Given the description of an element on the screen output the (x, y) to click on. 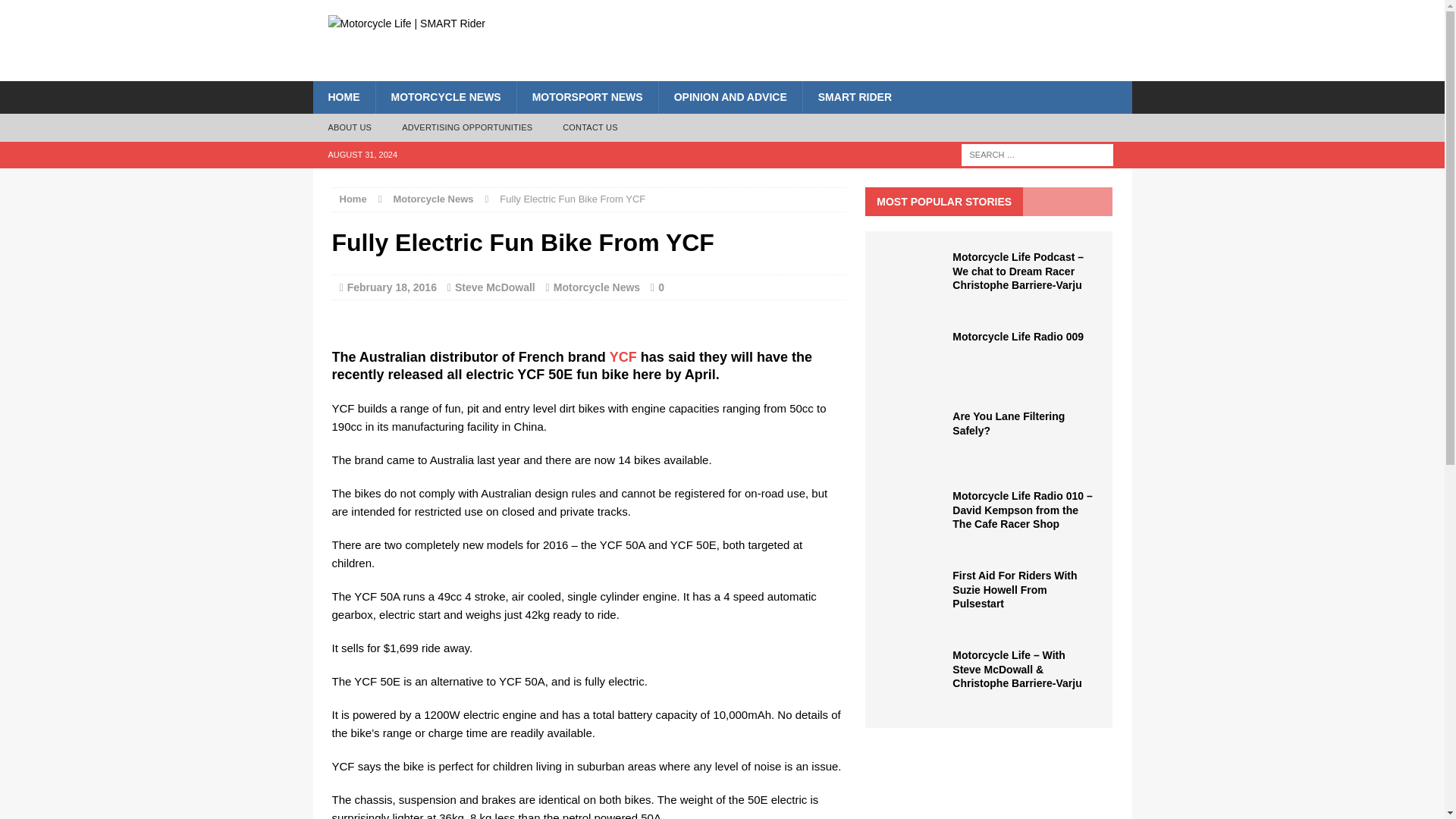
Search (37, 11)
Motorcycle News (433, 198)
First Aid For Riders With Suzie Howell From Pulsestart (1014, 589)
Motorcycle Life Radio 009 (913, 381)
Steve McDowall (494, 287)
HOME (343, 97)
CONTACT US (590, 127)
ABOUT US (350, 127)
YCF (623, 356)
Motorcycle Life Radio 009 (1017, 336)
